Given the description of an element on the screen output the (x, y) to click on. 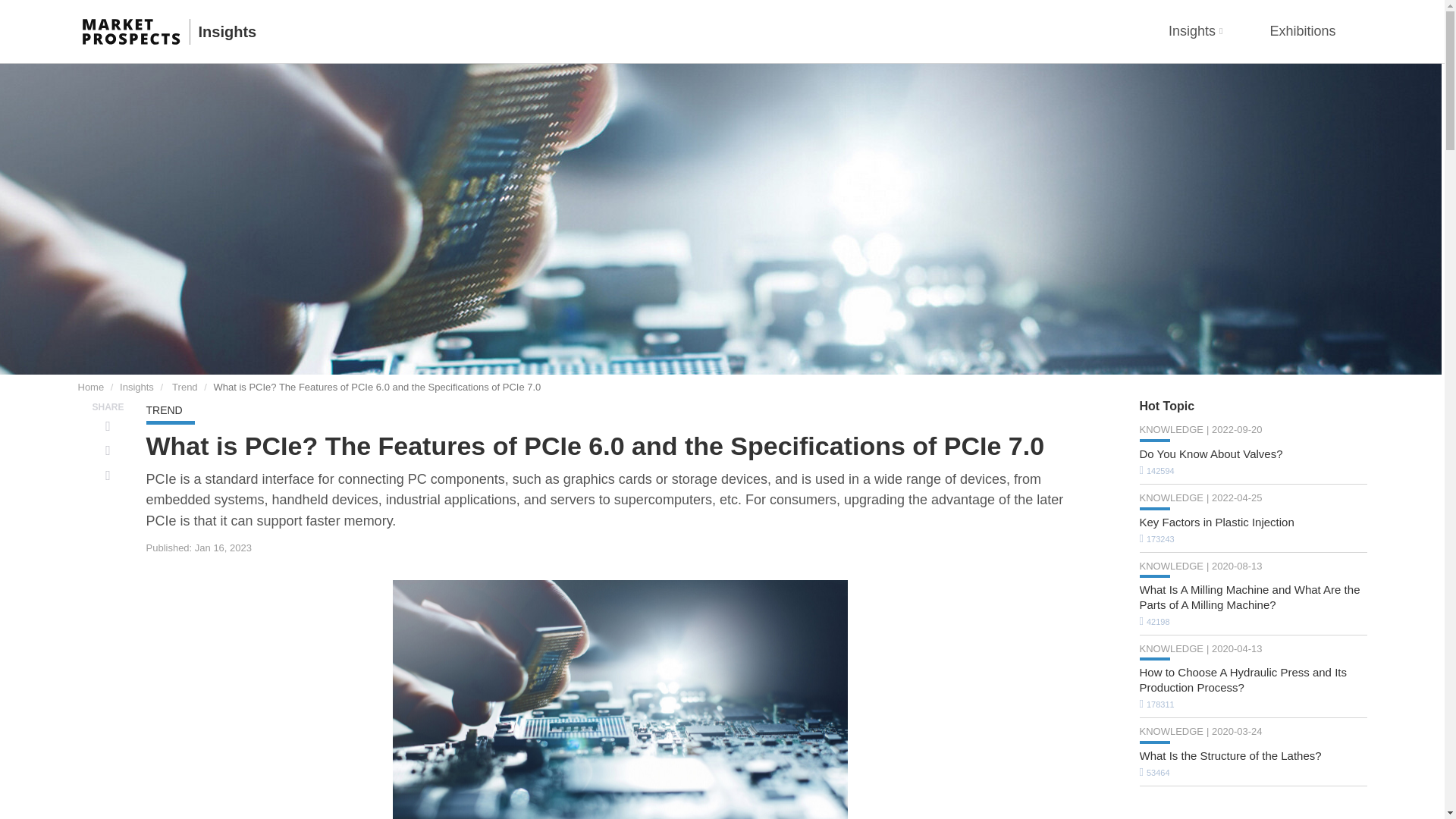
Insights (136, 387)
Exhibitions (1302, 31)
Insights (227, 31)
Trend (183, 387)
Home (90, 387)
Insights (1194, 31)
TREND (163, 410)
